Given the description of an element on the screen output the (x, y) to click on. 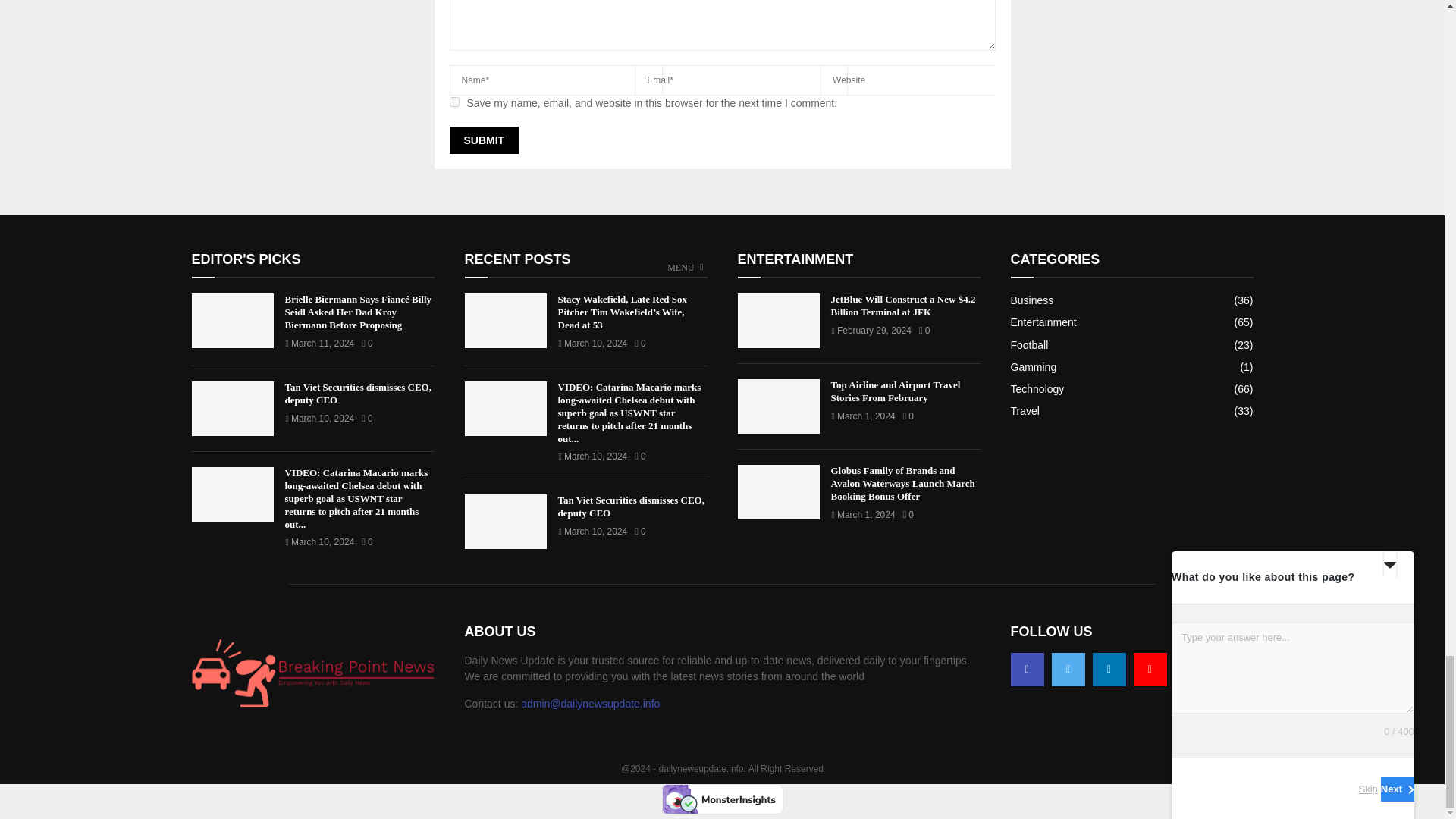
yes (453, 102)
Submit (483, 139)
